Given the description of an element on the screen output the (x, y) to click on. 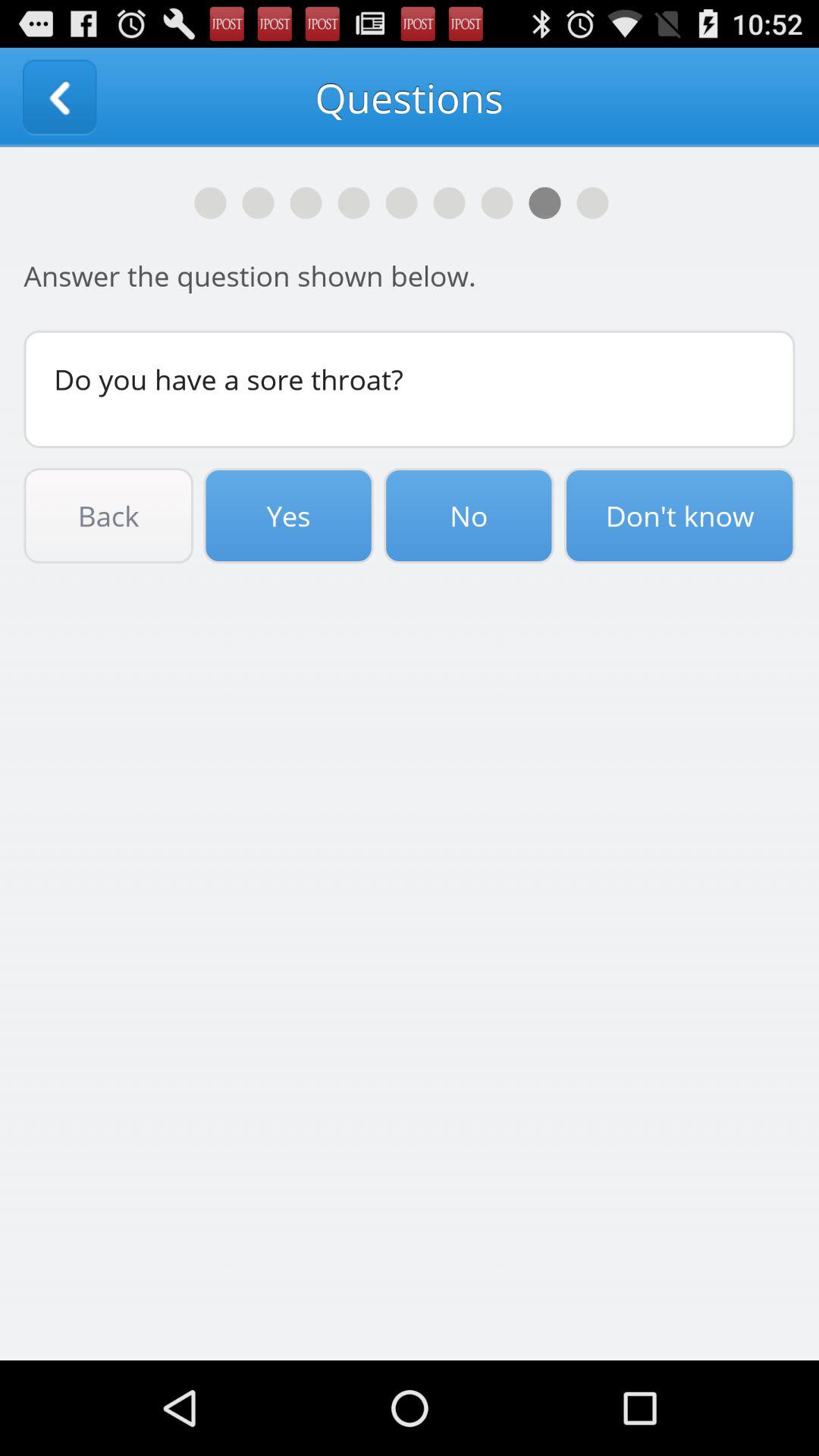
go to previous (59, 97)
